Given the description of an element on the screen output the (x, y) to click on. 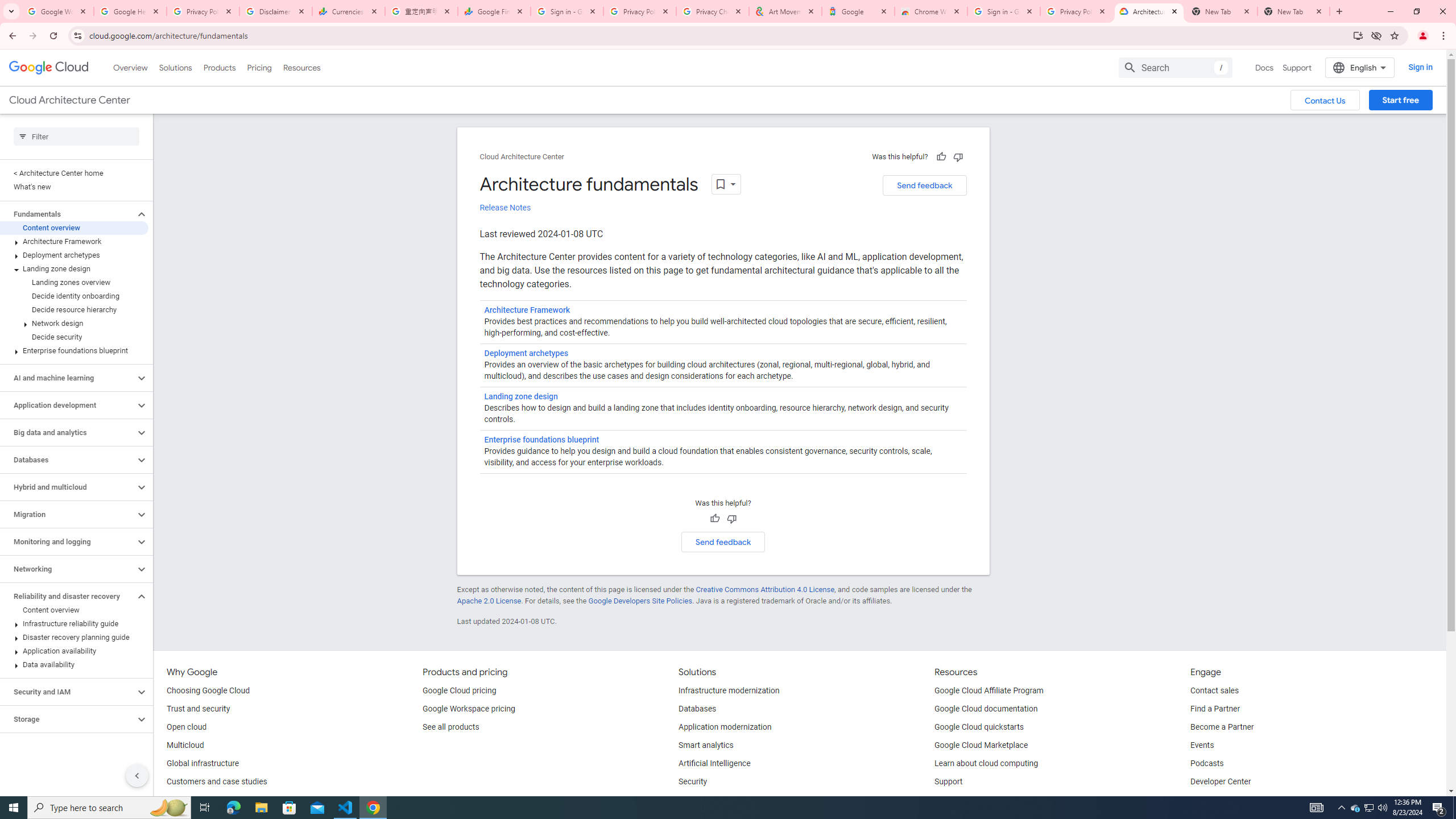
Reliability and disaster recovery (67, 596)
Infrastructure reliability guide (74, 623)
Apache 2.0 License (489, 600)
Learn about cloud computing (986, 764)
Security and IAM (67, 691)
Enterprise foundations blueprint (74, 350)
< Architecture Center home (74, 173)
Google Cloud Affiliate Program (988, 691)
